Given the description of an element on the screen output the (x, y) to click on. 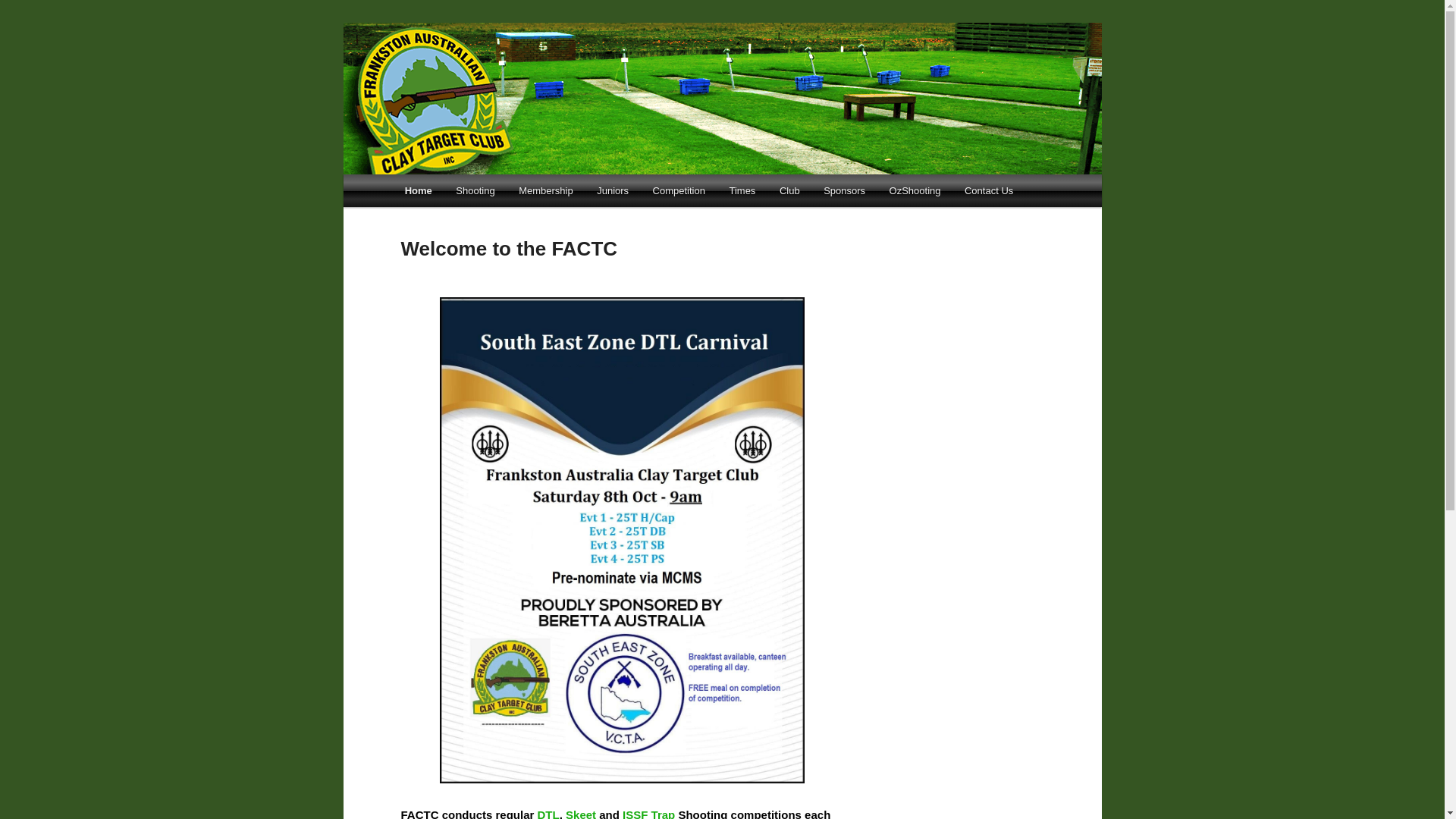
Sponsors Element type: text (843, 190)
Membership Element type: text (545, 190)
OzShooting Element type: text (914, 190)
Frankston Australia Clay Target Club Element type: text (599, 77)
Contact Us Element type: text (988, 190)
Competition Element type: text (678, 190)
Shooting Element type: text (475, 190)
Club Element type: text (789, 190)
Times Element type: text (742, 190)
Home Element type: text (418, 190)
Skip to secondary content Element type: text (479, 193)
Skip to primary content Element type: text (472, 193)
Juniors Element type: text (612, 190)
